Given the description of an element on the screen output the (x, y) to click on. 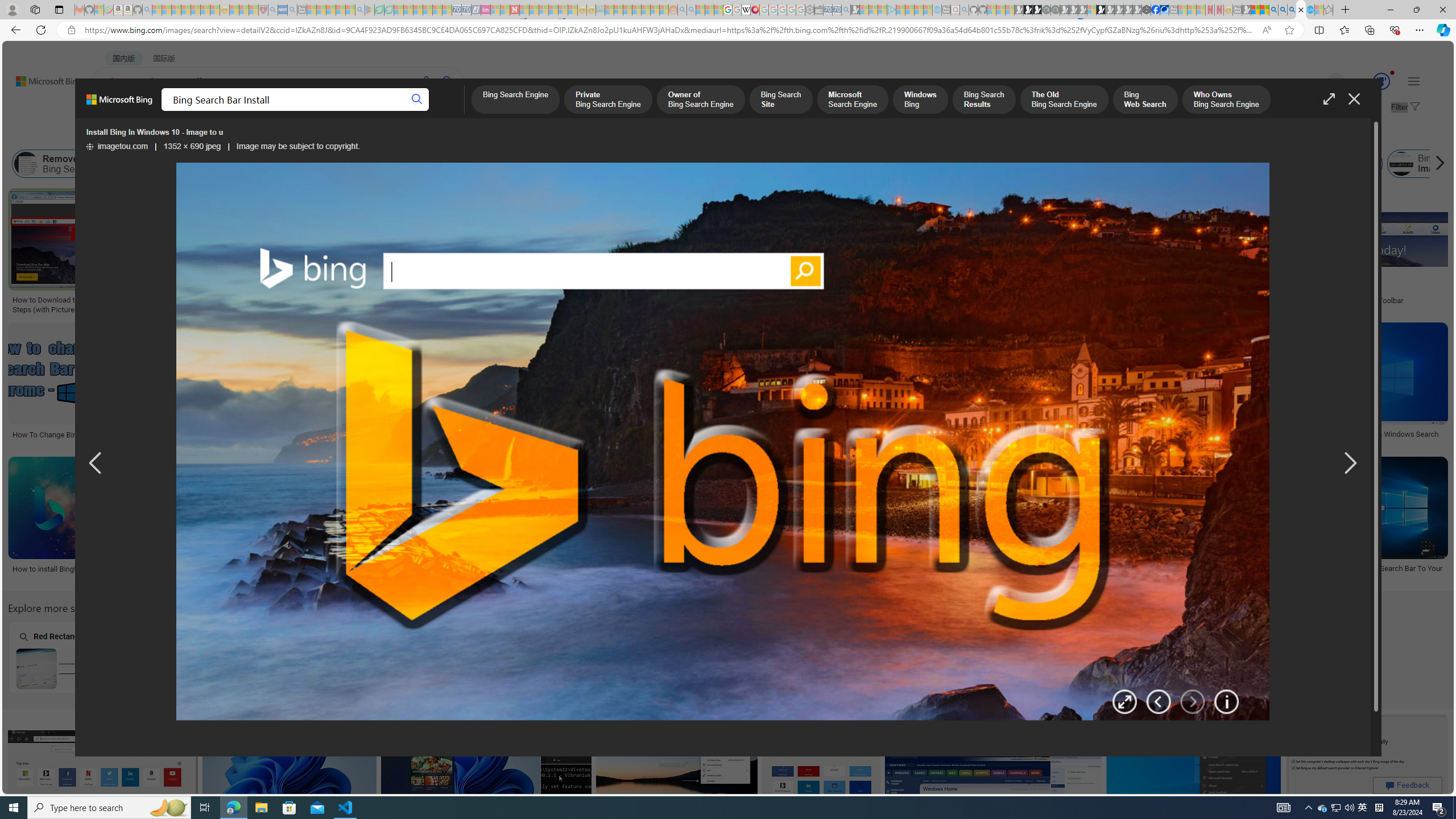
Favorites - Sleeping (1328, 9)
Microsoft Bing Search Bar (828, 163)
How To Change Bing Search Bar To Google Windows 10 (745, 573)
Nordace - Cooler Bags (1146, 9)
Who Owns Bing Search Engine (1226, 100)
Microsoft Bing, Back to Bing search (118, 104)
Bing Mugs (704, 261)
